Given the description of an element on the screen output the (x, y) to click on. 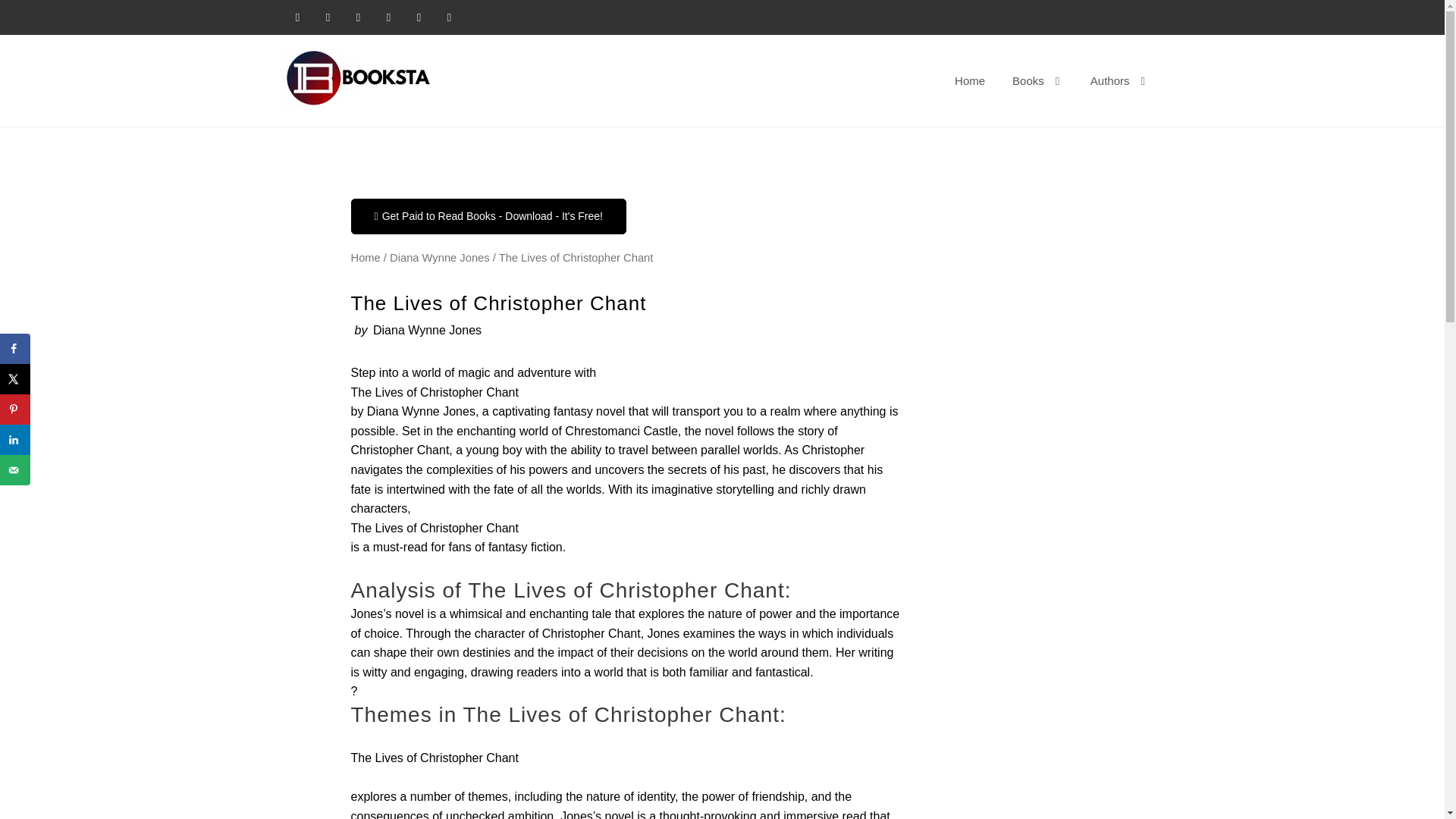
Send over email (15, 470)
Share on Facebook (15, 348)
Authors (1119, 81)
Share on LinkedIn (15, 440)
Books (1037, 81)
Save to Pinterest (15, 409)
Diana Wynne Jones (426, 329)
Get Paid to Read Books - Download - It's Free! (488, 216)
Share on X (15, 378)
Home (969, 81)
Home (365, 257)
Diana Wynne Jones (439, 257)
